Given the description of an element on the screen output the (x, y) to click on. 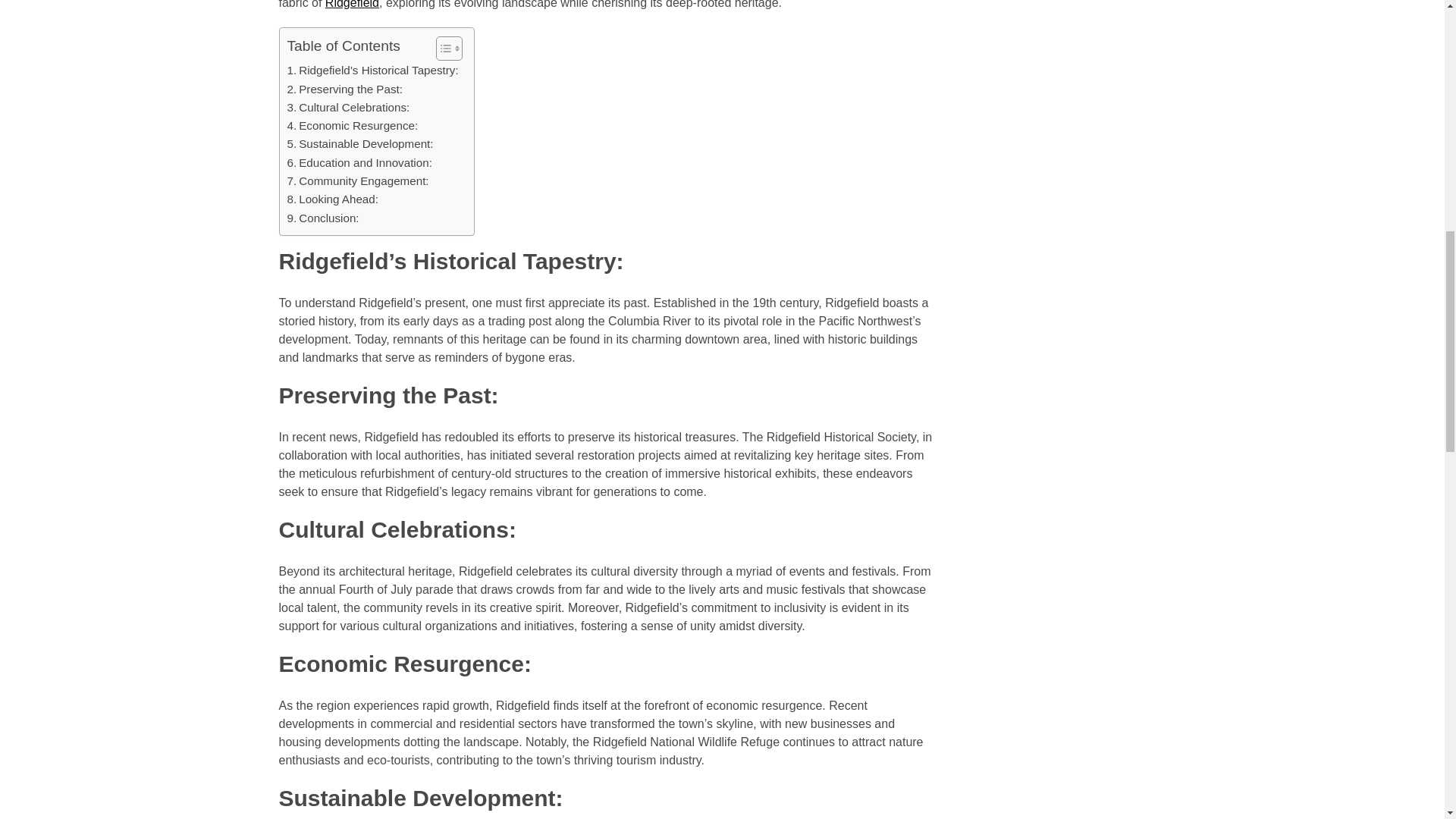
Community Engagement: (357, 180)
Looking Ahead: (331, 199)
Sustainable Development: (359, 144)
Education and Innovation: (358, 162)
Cultural Celebrations: (347, 107)
Conclusion: (322, 218)
Preserving the Past: (343, 89)
Economic Resurgence: (351, 126)
